Given the description of an element on the screen output the (x, y) to click on. 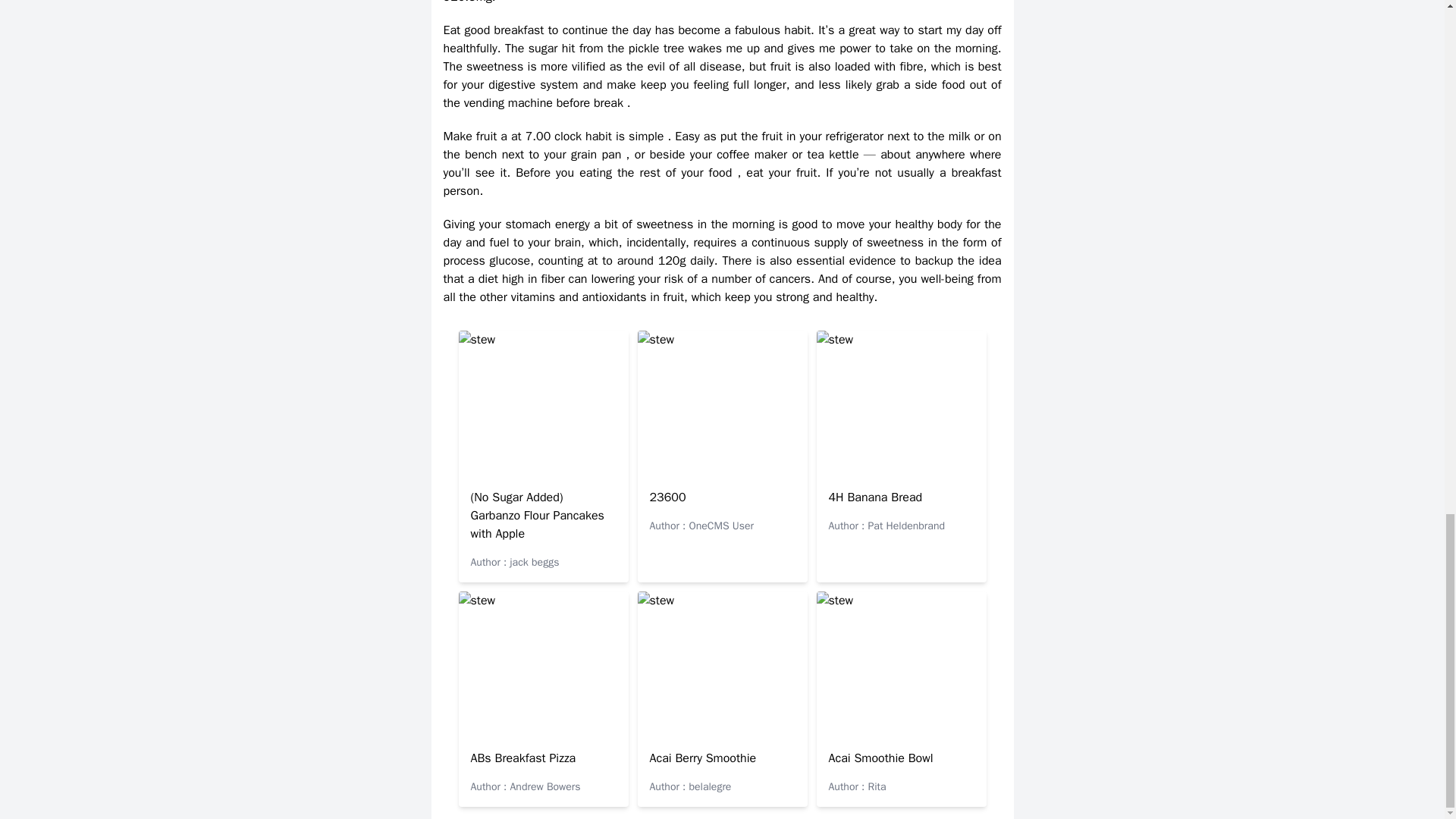
23600 (667, 497)
4H Banana Bread (874, 497)
ABs Breakfast Pizza (522, 758)
Acai Berry Smoothie (702, 758)
Acai Smoothie Bowl (880, 758)
